Given the description of an element on the screen output the (x, y) to click on. 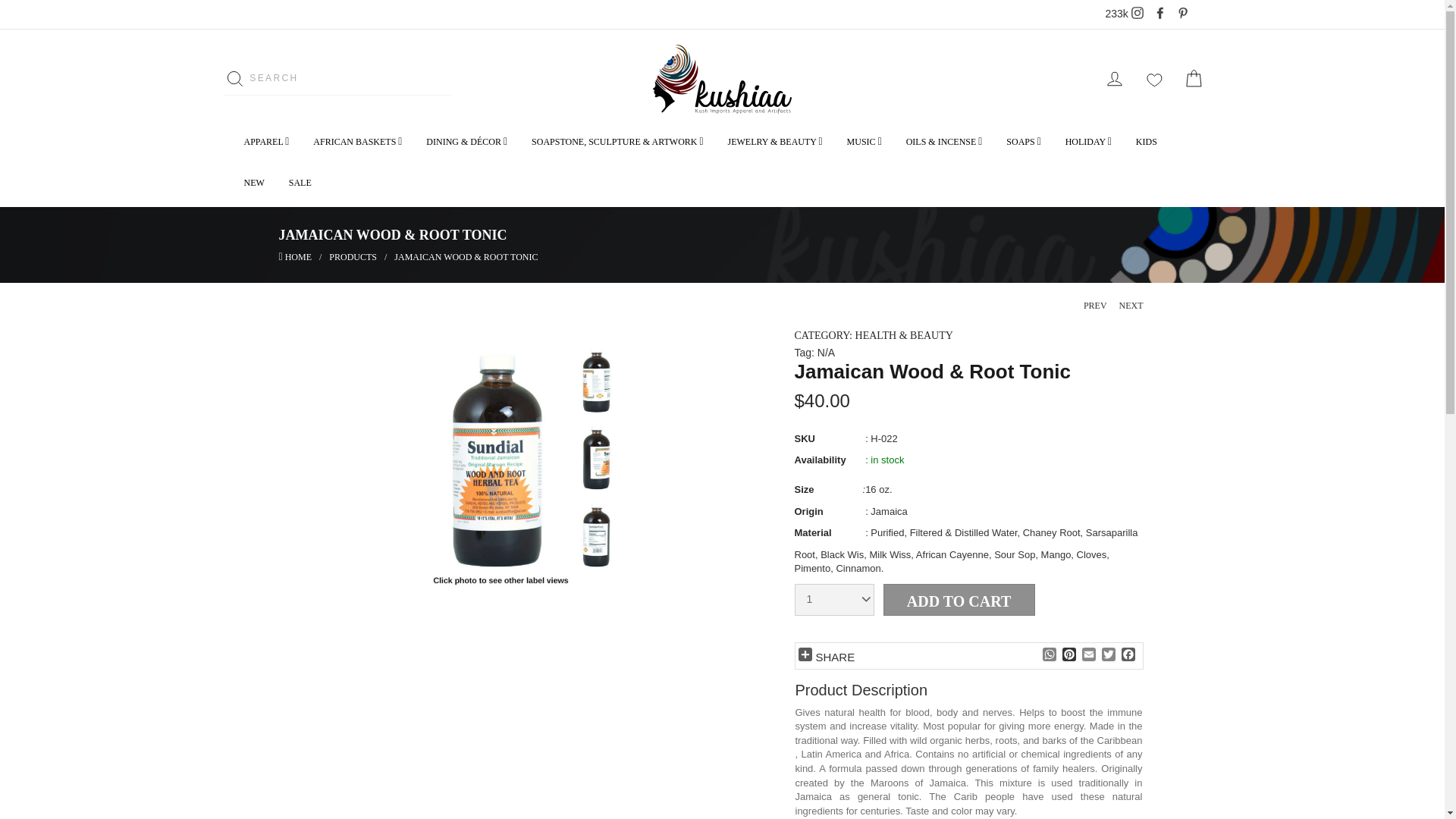
Kushiaa Sale (66, 81)
Twitter (1107, 655)
LOG IN (1114, 79)
Facebook (1123, 14)
SEARCH (1127, 655)
Home (267, 79)
APPAREL (295, 256)
WhatsApp (265, 141)
Products (1048, 655)
WISHLIST (353, 256)
Pinterest (1153, 79)
CART (1068, 655)
New Arrivals (1192, 79)
Email (145, 81)
